Given the description of an element on the screen output the (x, y) to click on. 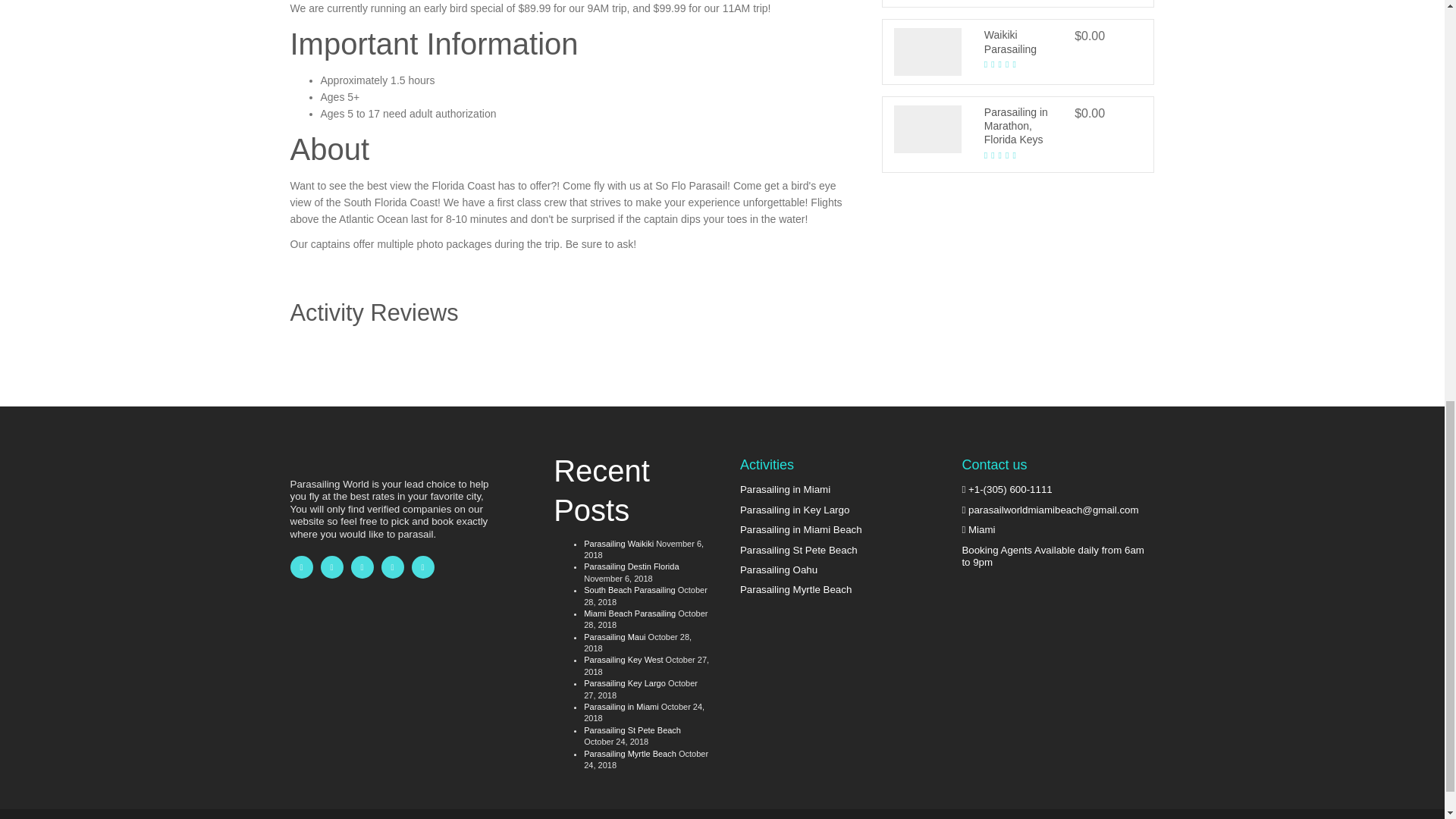
FareHarbor (1342, 64)
